Given the description of an element on the screen output the (x, y) to click on. 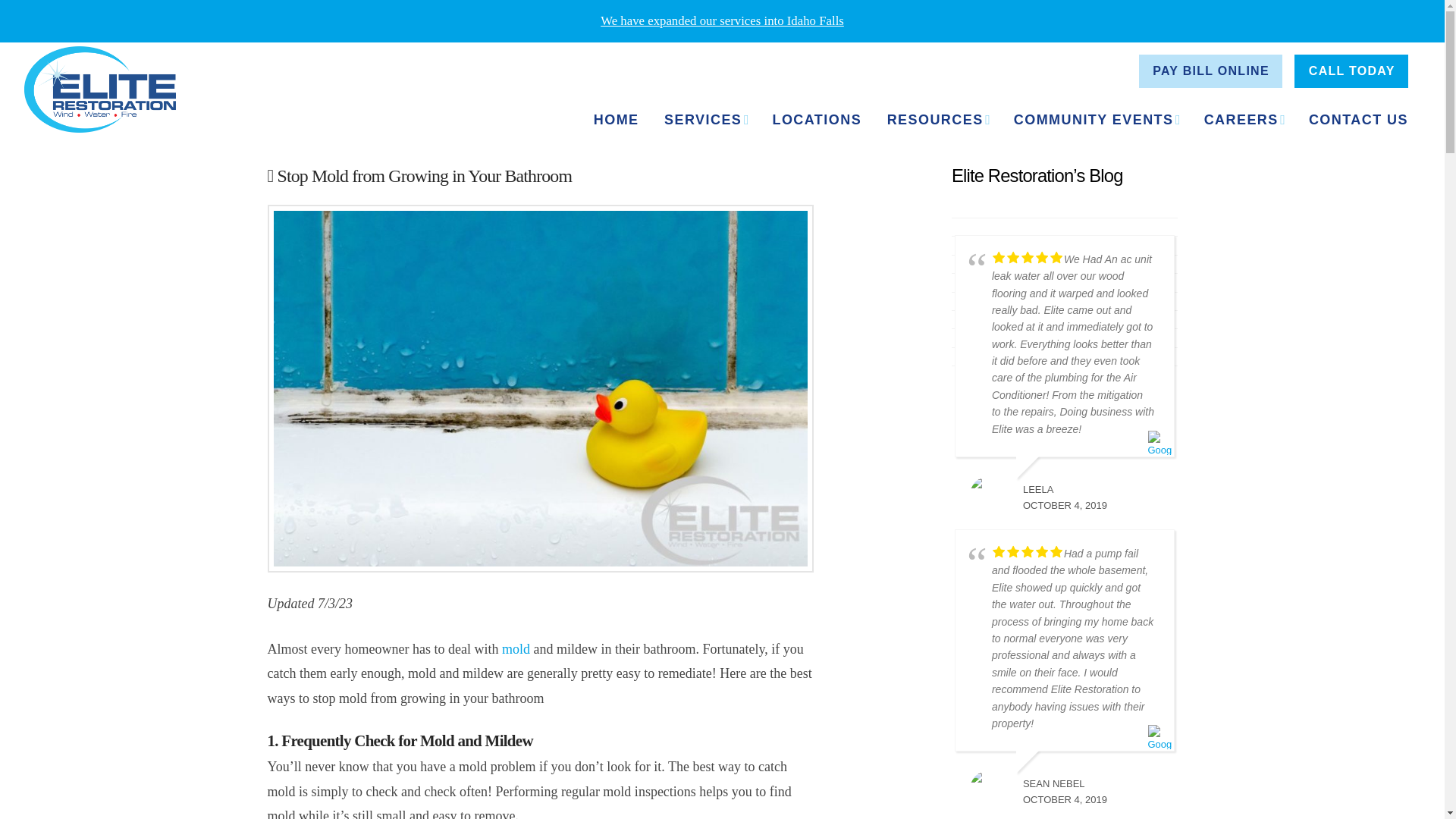
RESOURCES (936, 119)
PAY BILL ONLINE (1210, 70)
CAREERS (1243, 119)
SERVICES (704, 119)
mold (515, 648)
We have expanded our services into Idaho Falls (721, 20)
CALL TODAY (1350, 70)
CONTACT US (1358, 119)
HOME (614, 119)
COMMUNITY EVENTS (1095, 119)
LOCATIONS (815, 119)
